Given the description of an element on the screen output the (x, y) to click on. 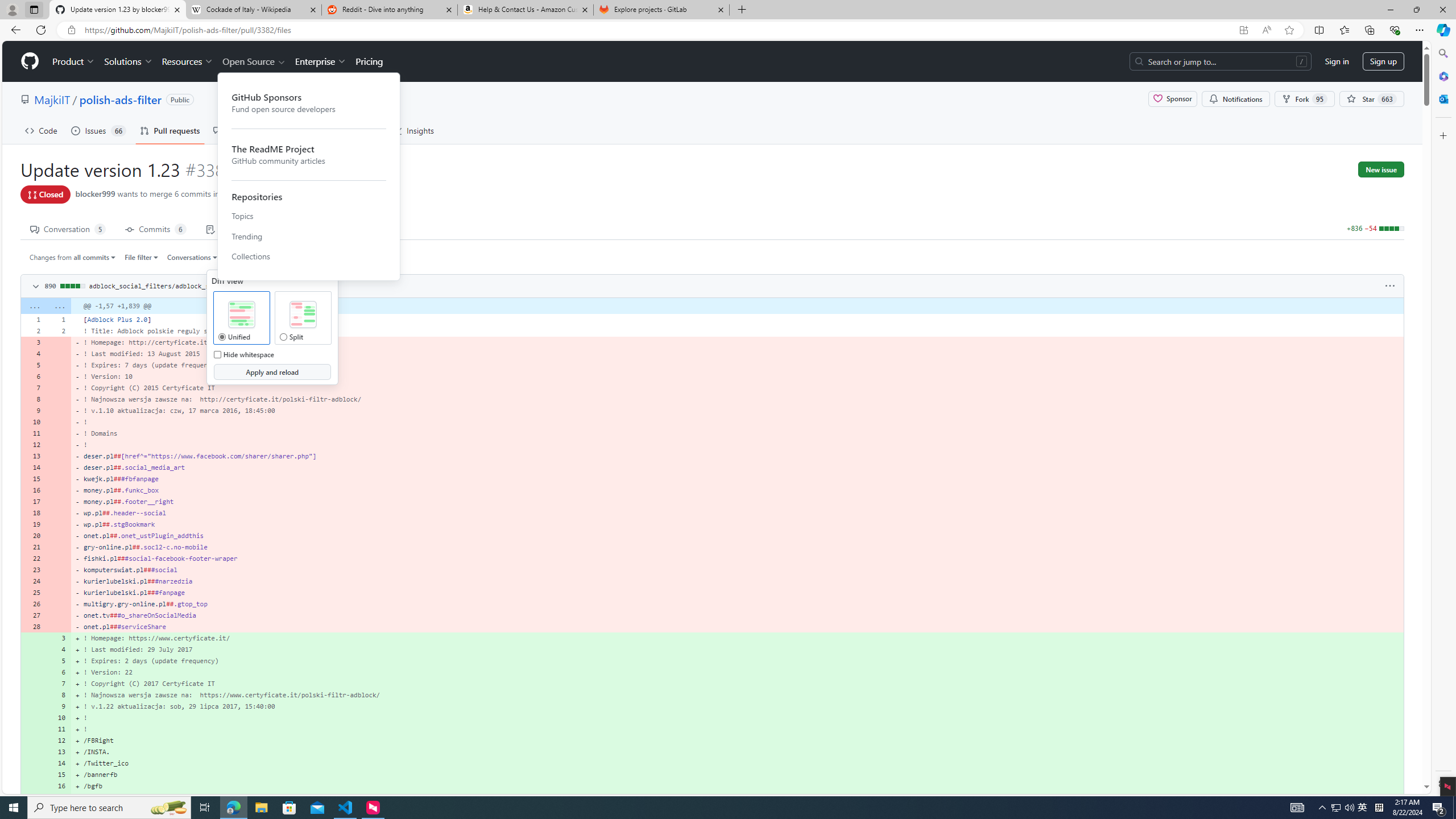
Changes from all commits (72, 257)
- onet.pl###serviceShare (737, 626)
+ /bgfb  (737, 785)
Resources (187, 60)
- ! (737, 444)
+ ! Homepage: https://www.certyficate.it/ (737, 637)
+ ! Expires: 2 days (update frequency)  (737, 660)
MajkiIT : master (257, 195)
Code (41, 130)
- ! v.1.10 aktualizacja: czw, 17 marca 2016, 18:45:00  (737, 410)
! Title: Adblock polskie reguly social (737, 330)
